Given the description of an element on the screen output the (x, y) to click on. 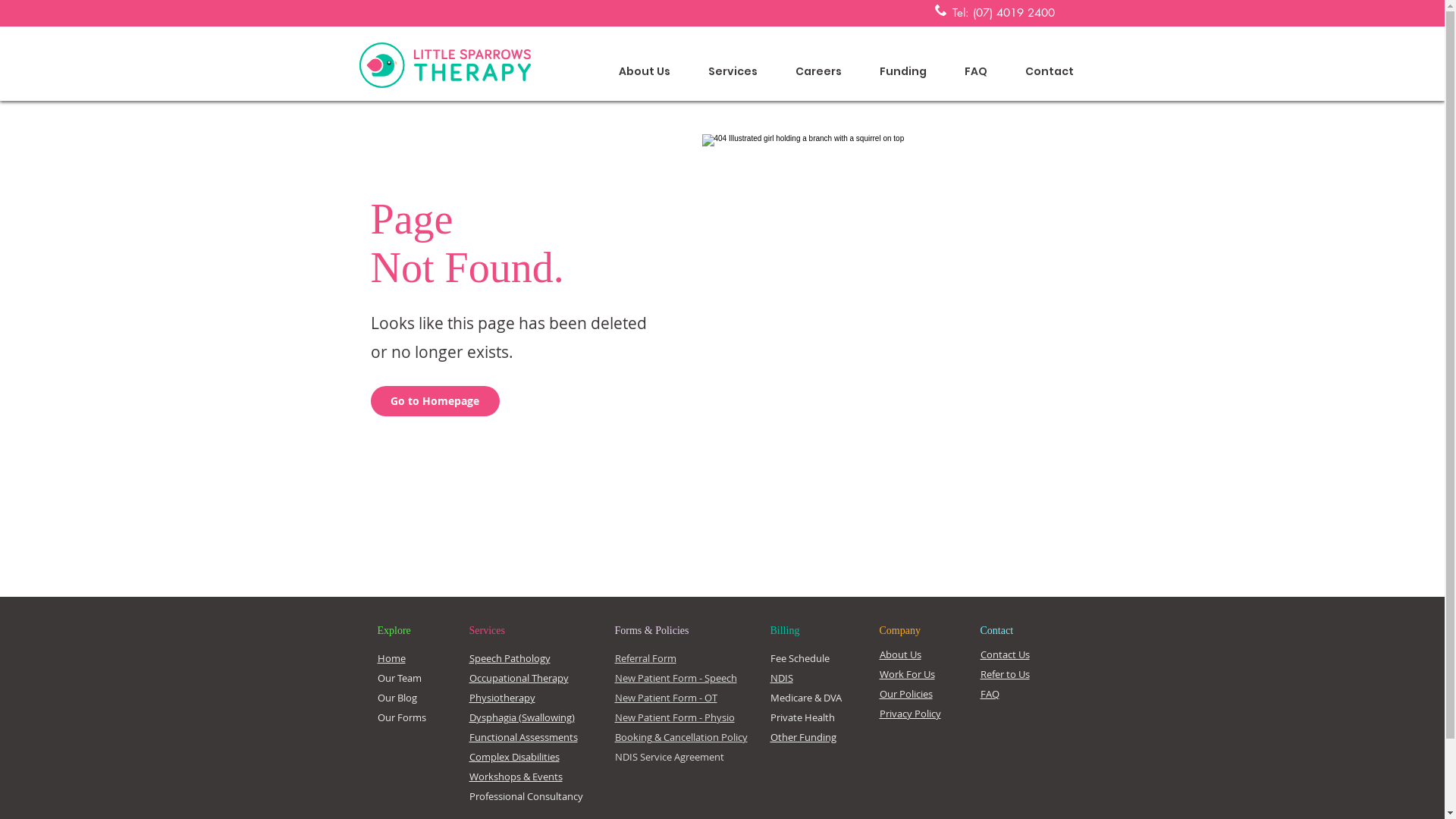
Complex Disabilities Element type: text (513, 756)
Dysphagia (Swallowing) Element type: text (521, 717)
Tel: (07) 4019 2400 Element type: text (1003, 11)
Work For Us Element type: text (907, 673)
Go to Homepage Element type: text (434, 400)
FAQ Element type: text (974, 64)
NDIS Element type: text (781, 677)
Booking & Cancellation Policy Element type: text (680, 736)
Careers Element type: text (818, 64)
Physiotherapy Element type: text (501, 697)
About Us Element type: text (643, 64)
Refer to Us Element type: text (1004, 673)
Contact Us Element type: text (1004, 654)
Contact Element type: text (1048, 64)
Occupational Therapy Element type: text (517, 677)
Our Policies Element type: text (905, 693)
FAQ Element type: text (988, 693)
Referral Form Element type: text (644, 658)
Other Funding Element type: text (803, 736)
Speech Pathology Element type: text (508, 658)
New Patient Form - Speech Element type: text (675, 677)
New Patient Form - OT Element type: text (665, 697)
Functional Assessments Element type: text (522, 736)
About Us Element type: text (900, 654)
Home Element type: text (391, 658)
Funding Element type: text (901, 64)
Workshops & Events Element type: text (514, 776)
Privacy Policy Element type: text (910, 713)
New Patient Form - Physio Element type: text (674, 717)
